Given the description of an element on the screen output the (x, y) to click on. 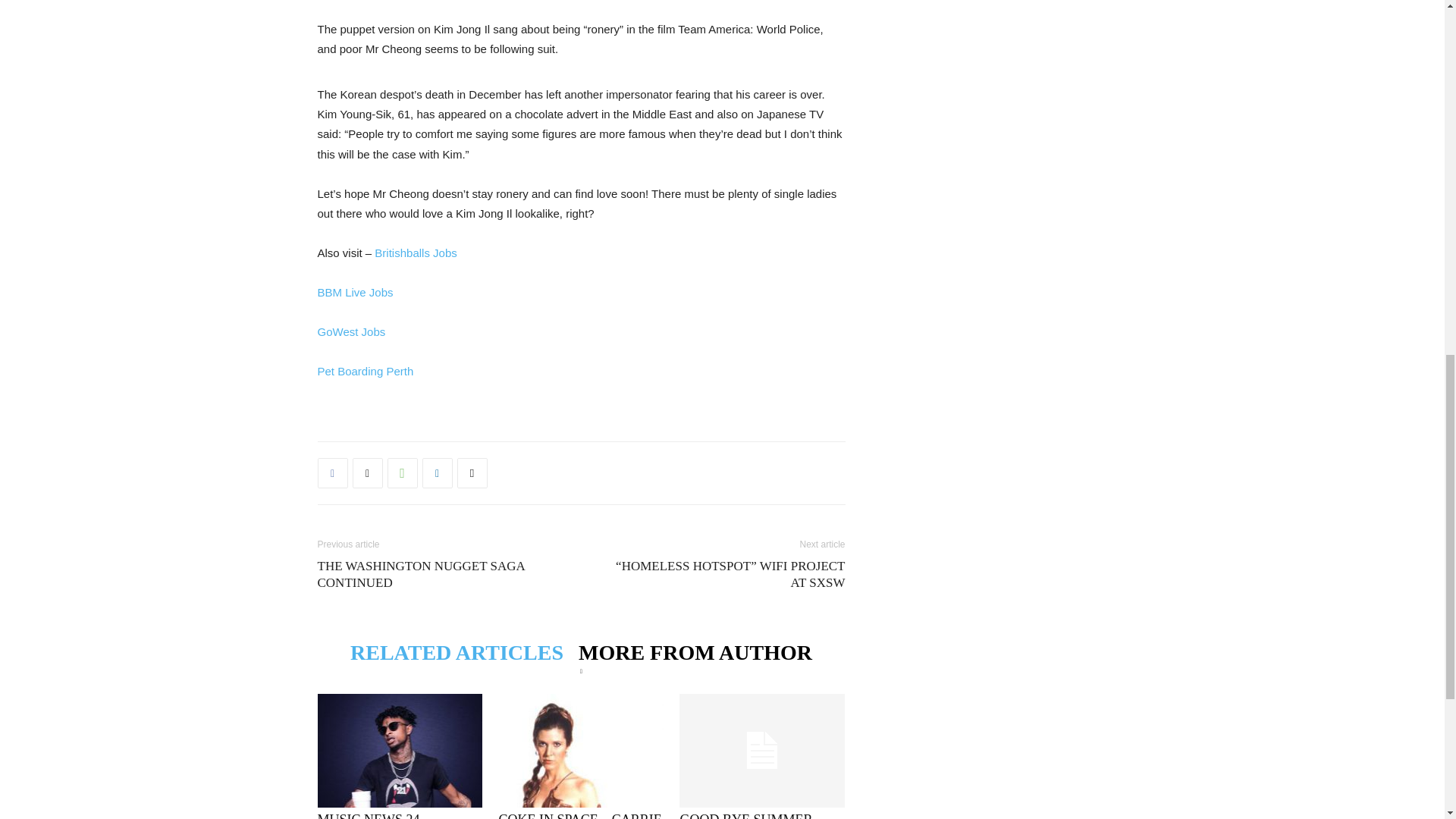
BBM Live Jobs (355, 291)
Britishballs Jobs  (417, 252)
GoWest Jobs  (352, 331)
Pet Boarding Perth  (366, 370)
